Given the description of an element on the screen output the (x, y) to click on. 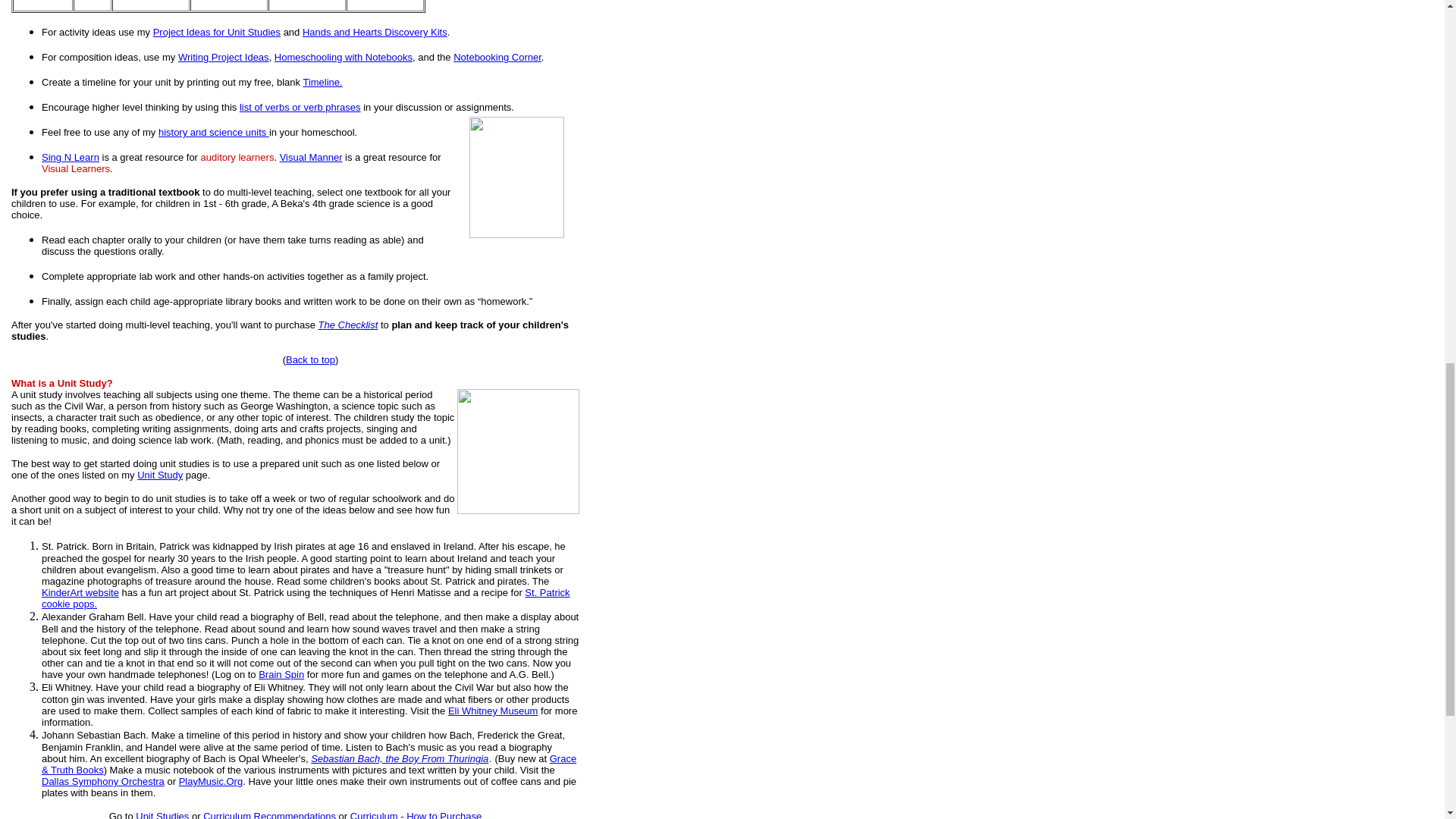
Timeline. (322, 81)
Project Ideas for Unit Studies (216, 31)
Hands and Hearts Discovery Kits (374, 31)
Notebooking Corner (496, 57)
Homeschooling with Notebooks (343, 57)
list of verbs or verb phrases (300, 107)
Writing Project Ideas (223, 57)
history and science units (213, 132)
